Given the description of an element on the screen output the (x, y) to click on. 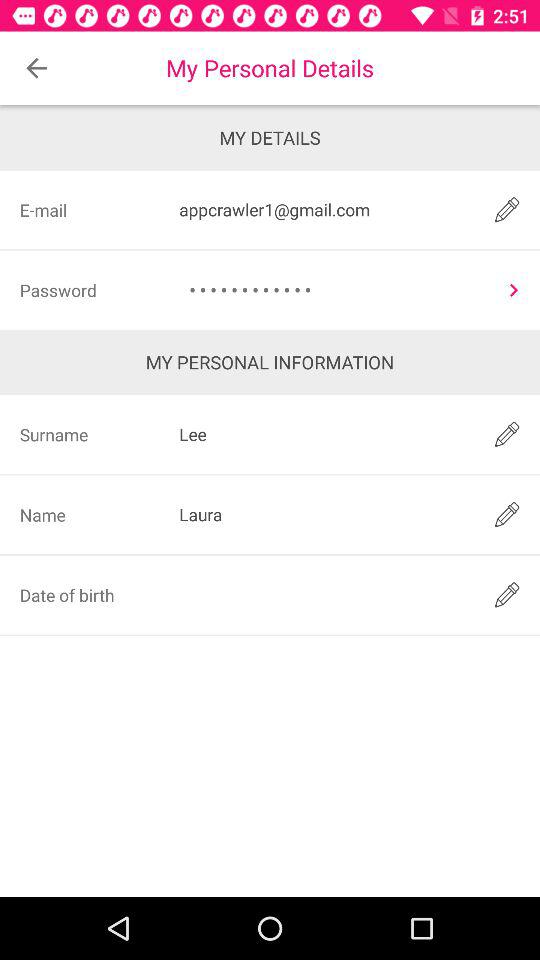
select item to the right of the password item (333, 289)
